Given the description of an element on the screen output the (x, y) to click on. 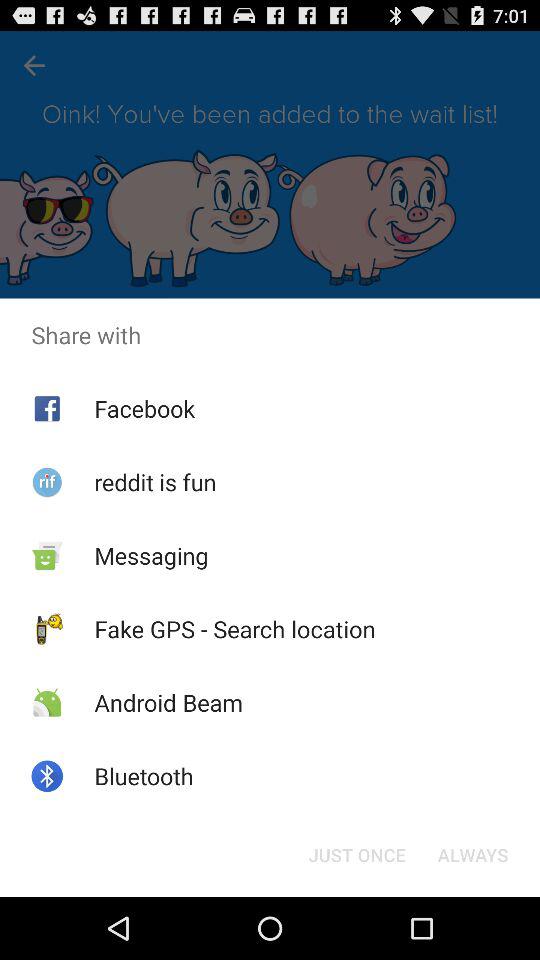
swipe to fake gps search item (234, 629)
